Given the description of an element on the screen output the (x, y) to click on. 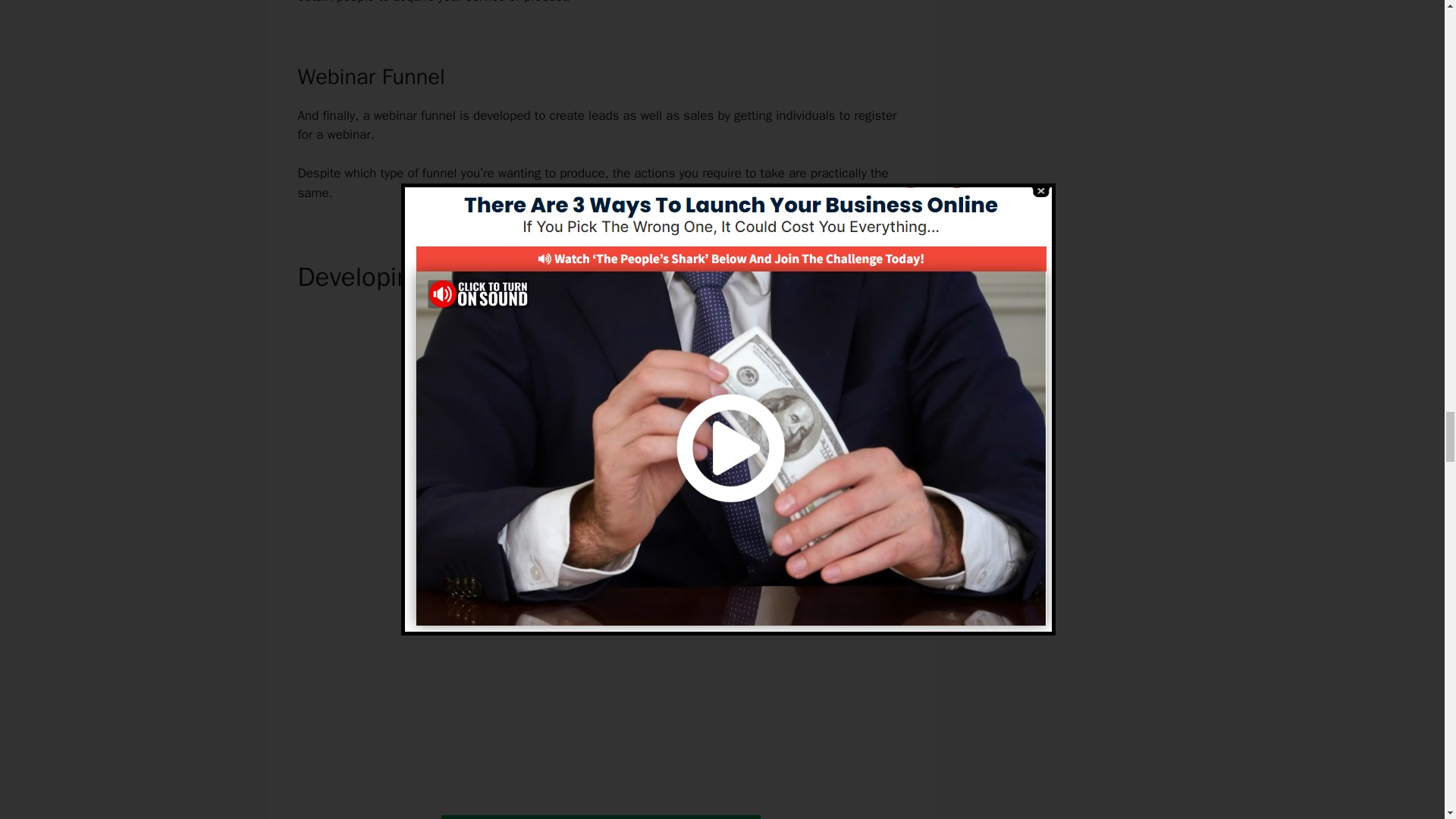
Build Your First Funnel For Free Today (600, 816)
